Given the description of an element on the screen output the (x, y) to click on. 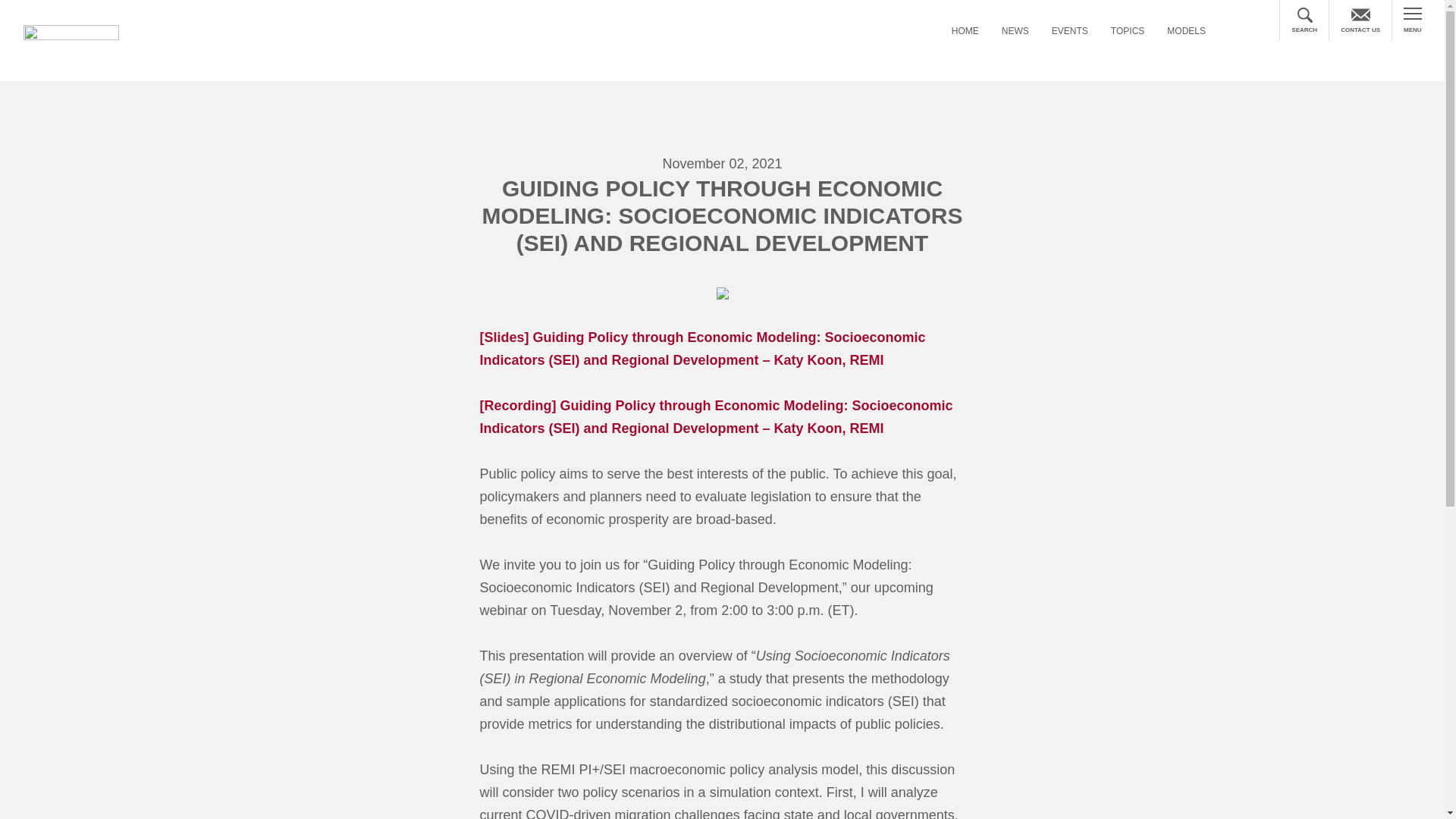
CONTACT US (1360, 20)
HOME (965, 32)
NEWS (1015, 32)
SEARCH (1304, 20)
MODELS (1186, 32)
Search (1328, 35)
TOPICS (1127, 32)
EVENTS (1069, 32)
